Given the description of an element on the screen output the (x, y) to click on. 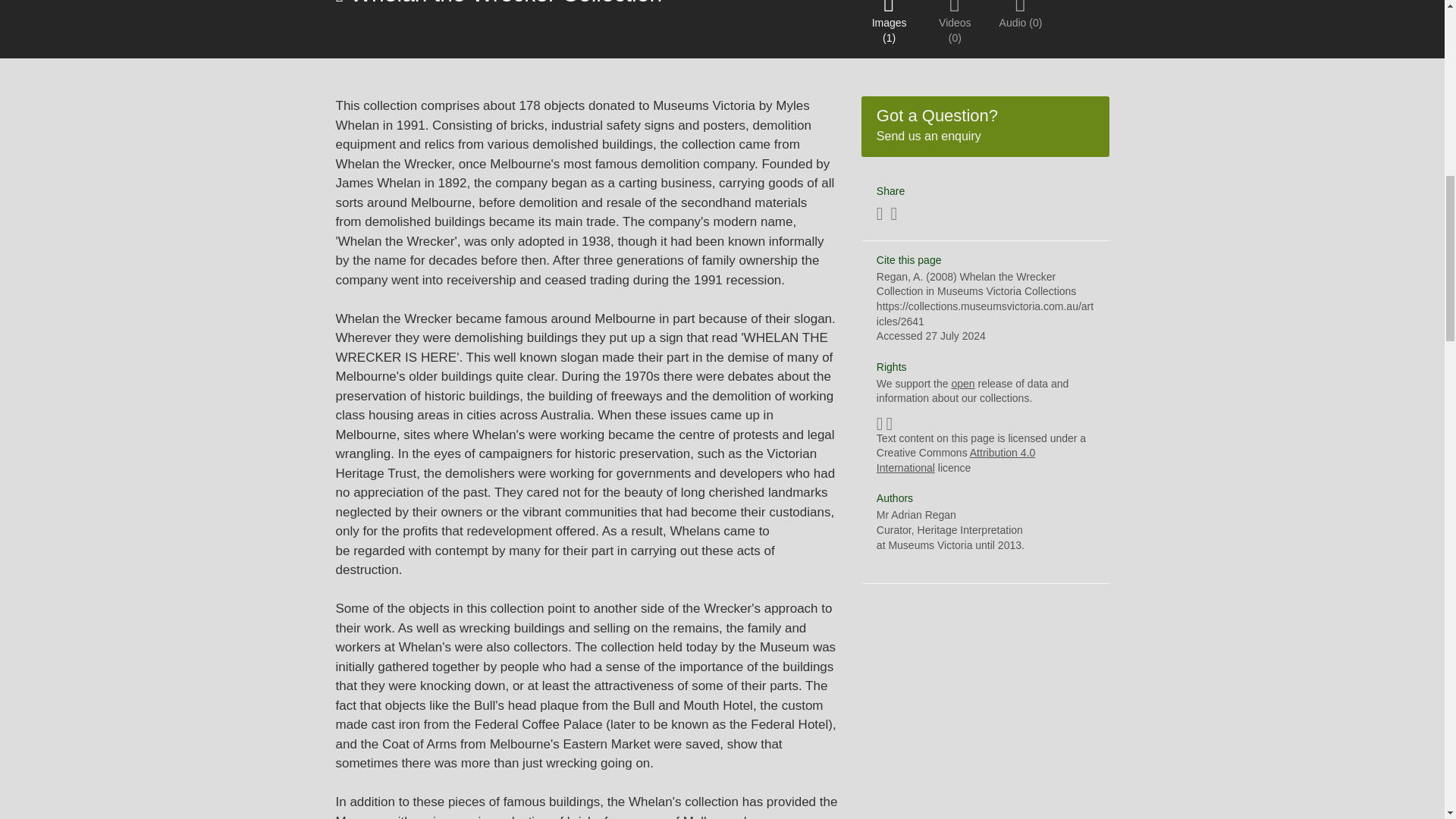
Facebook (985, 126)
Mr Adrian Regan (879, 215)
open (916, 514)
Twitter (962, 383)
Attribution 4.0 International (892, 215)
